Given the description of an element on the screen output the (x, y) to click on. 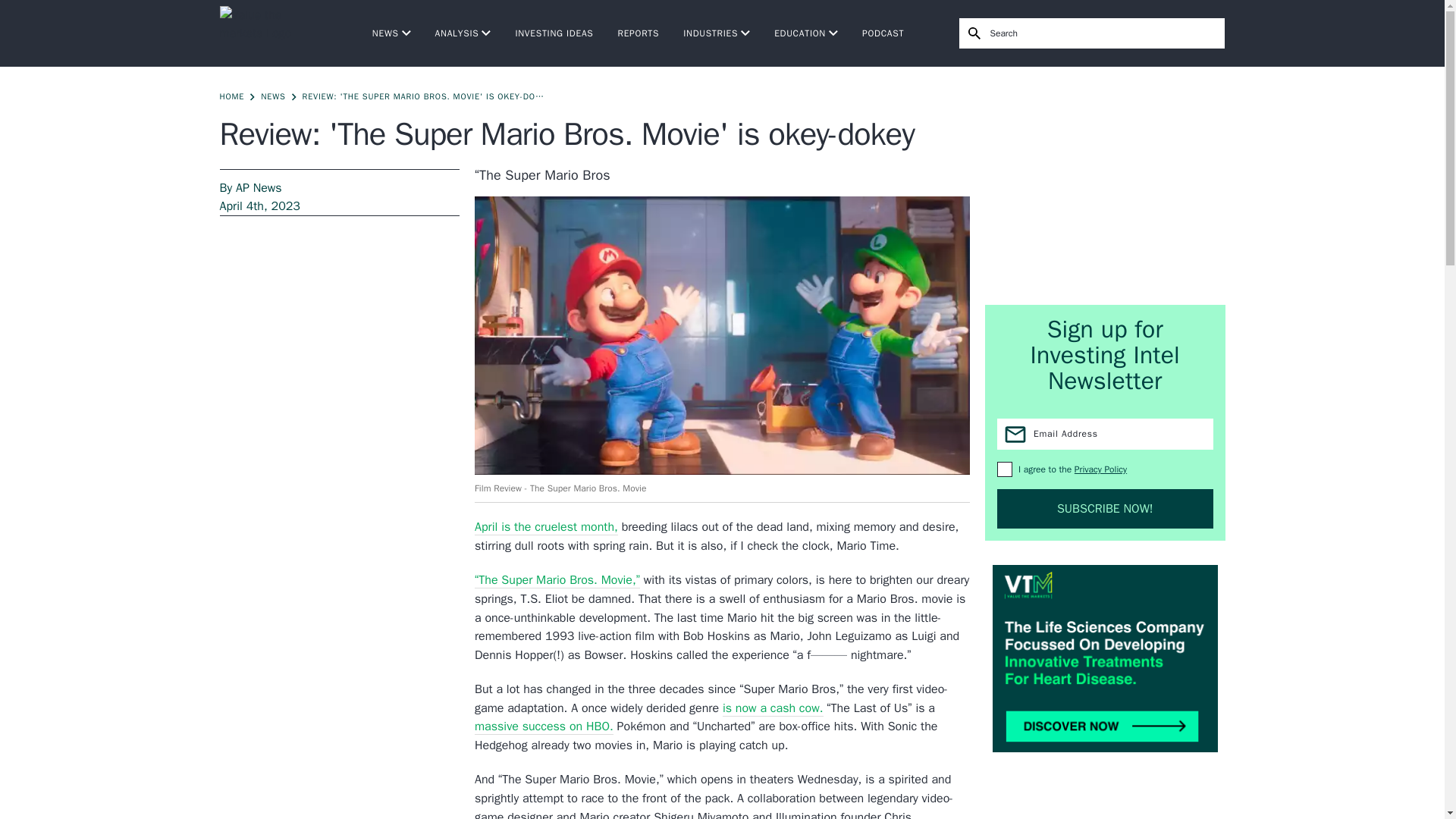
ANALYSIS (463, 33)
INVESTING IDEAS (553, 33)
REPORTS (638, 33)
NEWS (391, 33)
Yes (1004, 468)
EDUCATION (806, 33)
PODCAST (882, 33)
INDUSTRIES (715, 33)
